Given the description of an element on the screen output the (x, y) to click on. 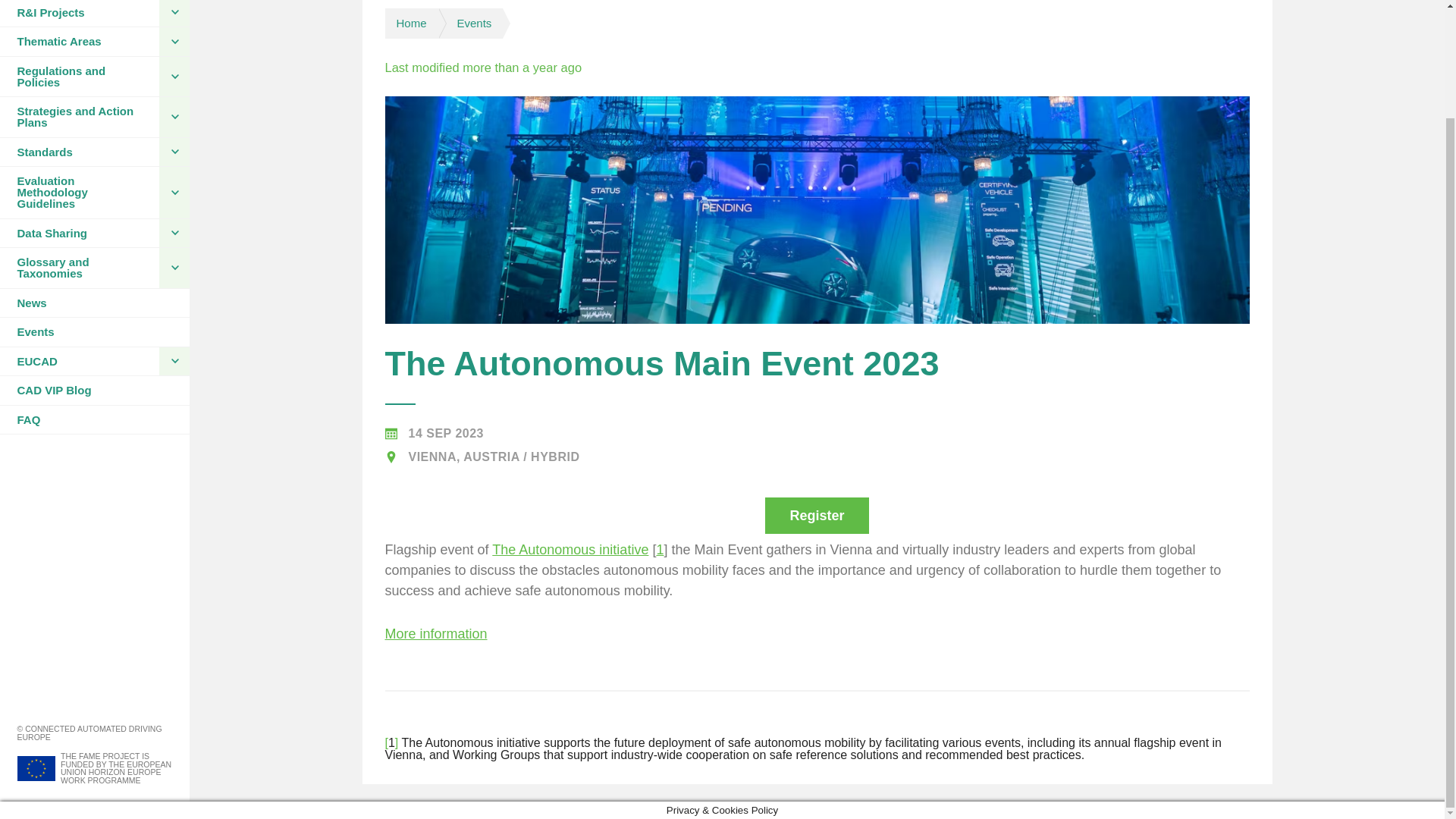
Regulations and Policies (79, 76)
Thematic Areas (79, 41)
Evaluation Methodology Guidelines (79, 192)
Standards (79, 152)
Strategies and Action Plans (79, 117)
